Given the description of an element on the screen output the (x, y) to click on. 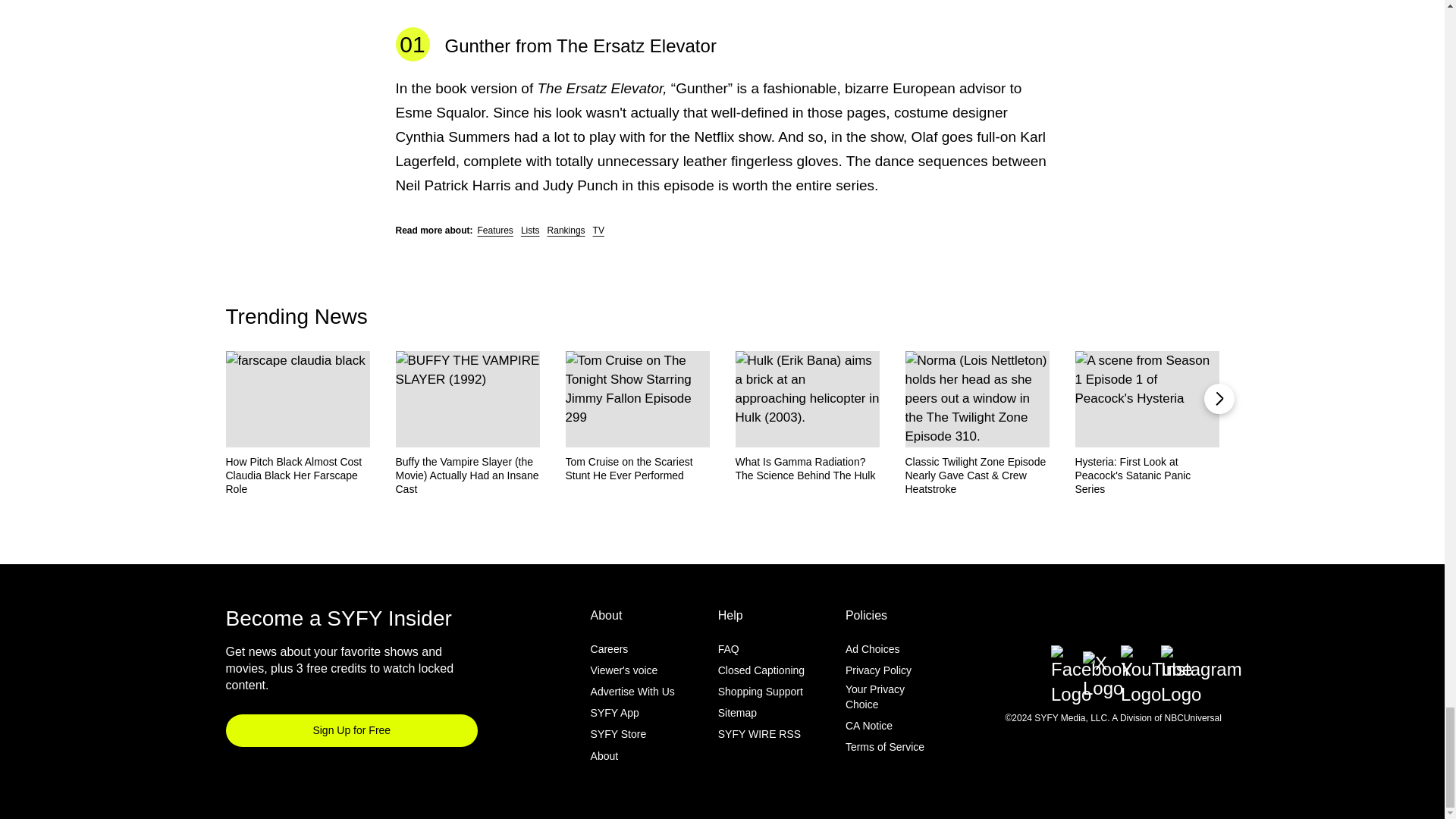
Tom Cruise on the Scariest Stunt He Ever Performed (638, 468)
TV (598, 230)
Advertise With Us (633, 691)
Lists (530, 230)
Features (495, 230)
How Pitch Black Almost Cost Claudia Black Her Farscape Role (297, 475)
Rankings (566, 230)
What Is Gamma Radiation? The Science Behind The Hulk (807, 468)
